Given the description of an element on the screen output the (x, y) to click on. 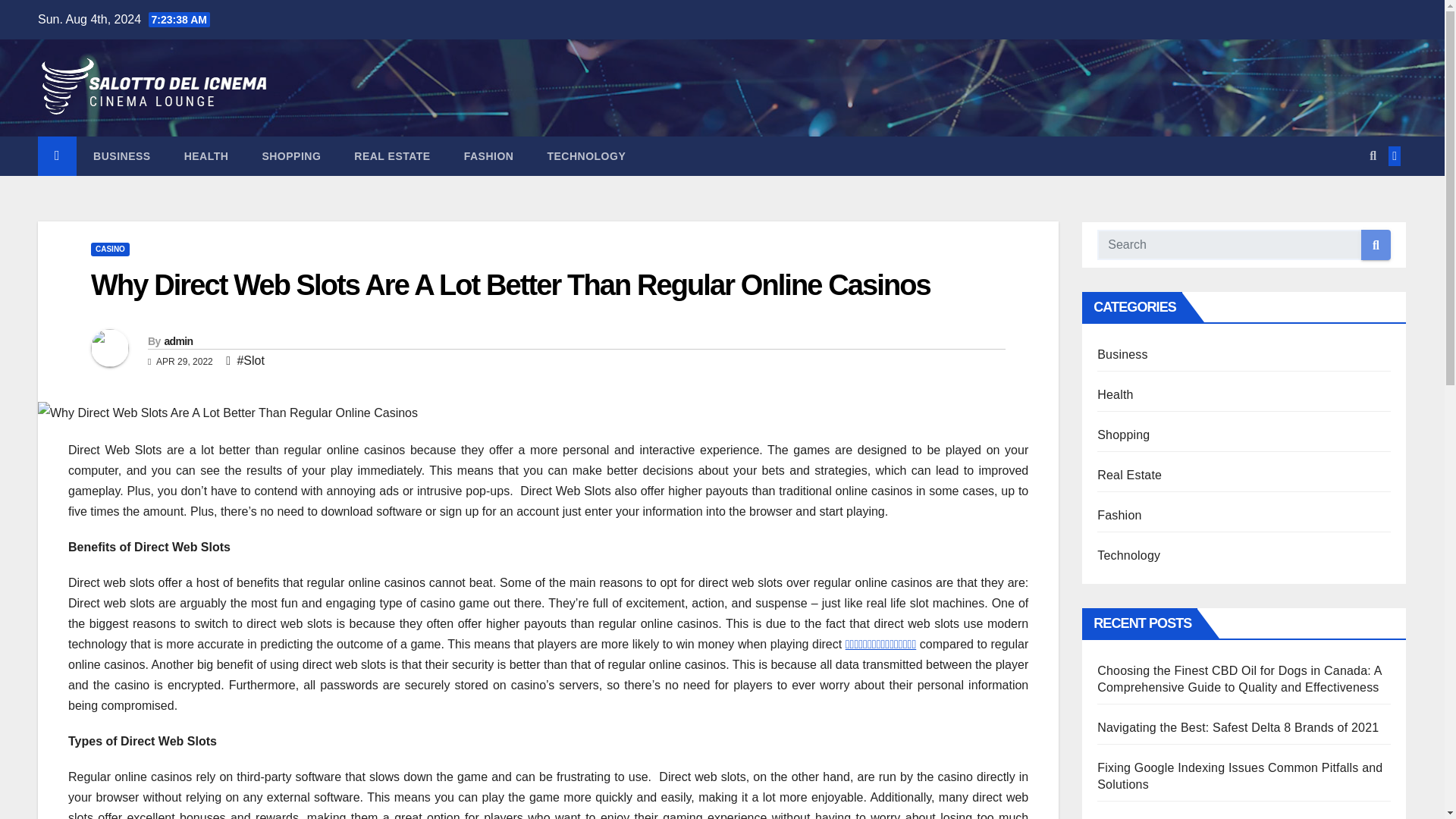
Fashion (488, 156)
Health (206, 156)
BUSINESS (122, 156)
REAL ESTATE (391, 156)
admin (177, 340)
FASHION (488, 156)
Real Estate (391, 156)
Shopping (290, 156)
HEALTH (206, 156)
SHOPPING (290, 156)
TECHNOLOGY (585, 156)
Technology (585, 156)
Business (122, 156)
